Given the description of an element on the screen output the (x, y) to click on. 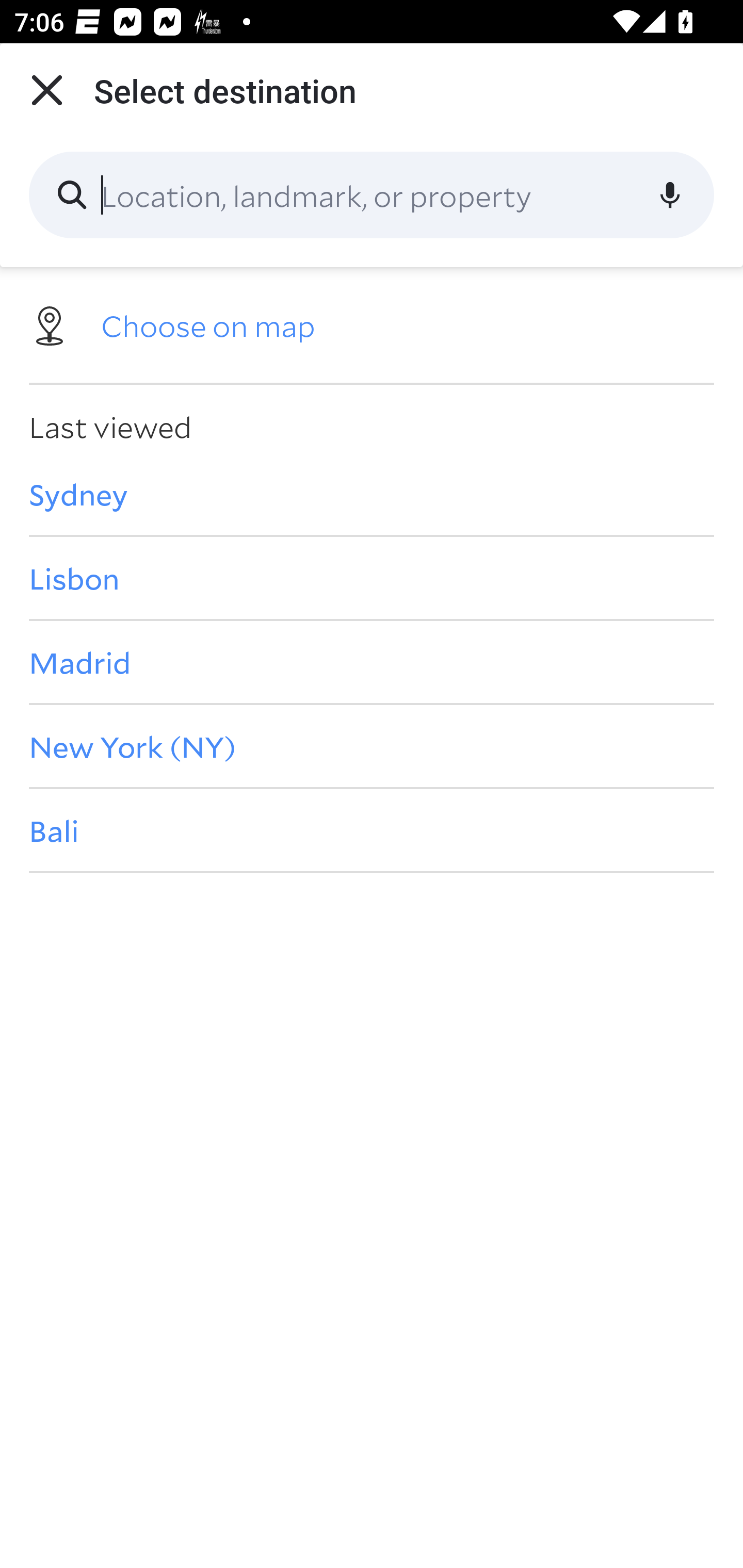
Location, landmark, or property (371, 195)
Choose on map (371, 324)
Sydney (371, 493)
Lisbon (371, 577)
Madrid (371, 661)
New York (NY) (371, 746)
Bali (371, 829)
